Given the description of an element on the screen output the (x, y) to click on. 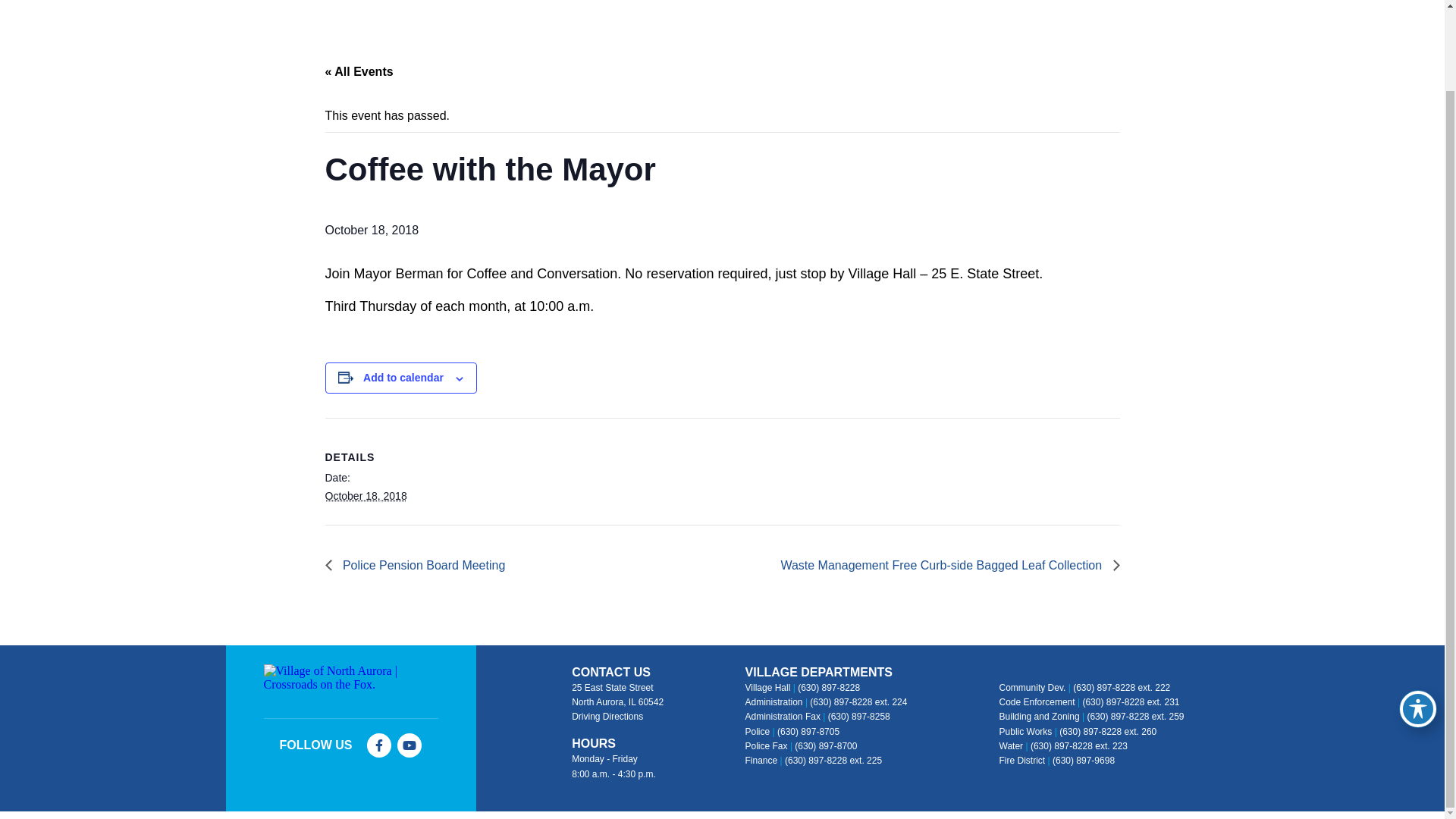
DEPARTMENTS (836, 1)
2018-10-18 (365, 495)
